Given the description of an element on the screen output the (x, y) to click on. 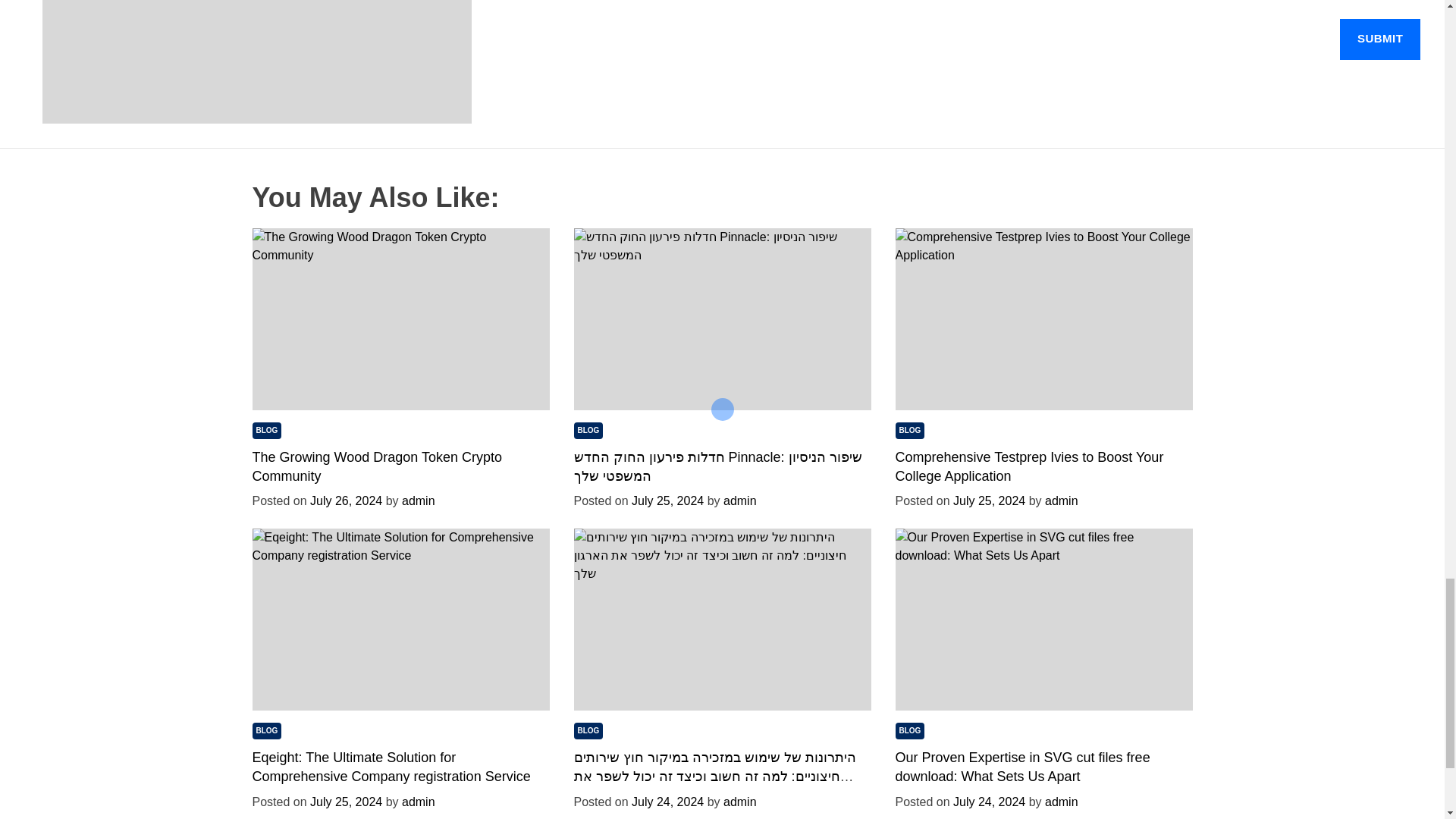
Submit (1380, 38)
